Given the description of an element on the screen output the (x, y) to click on. 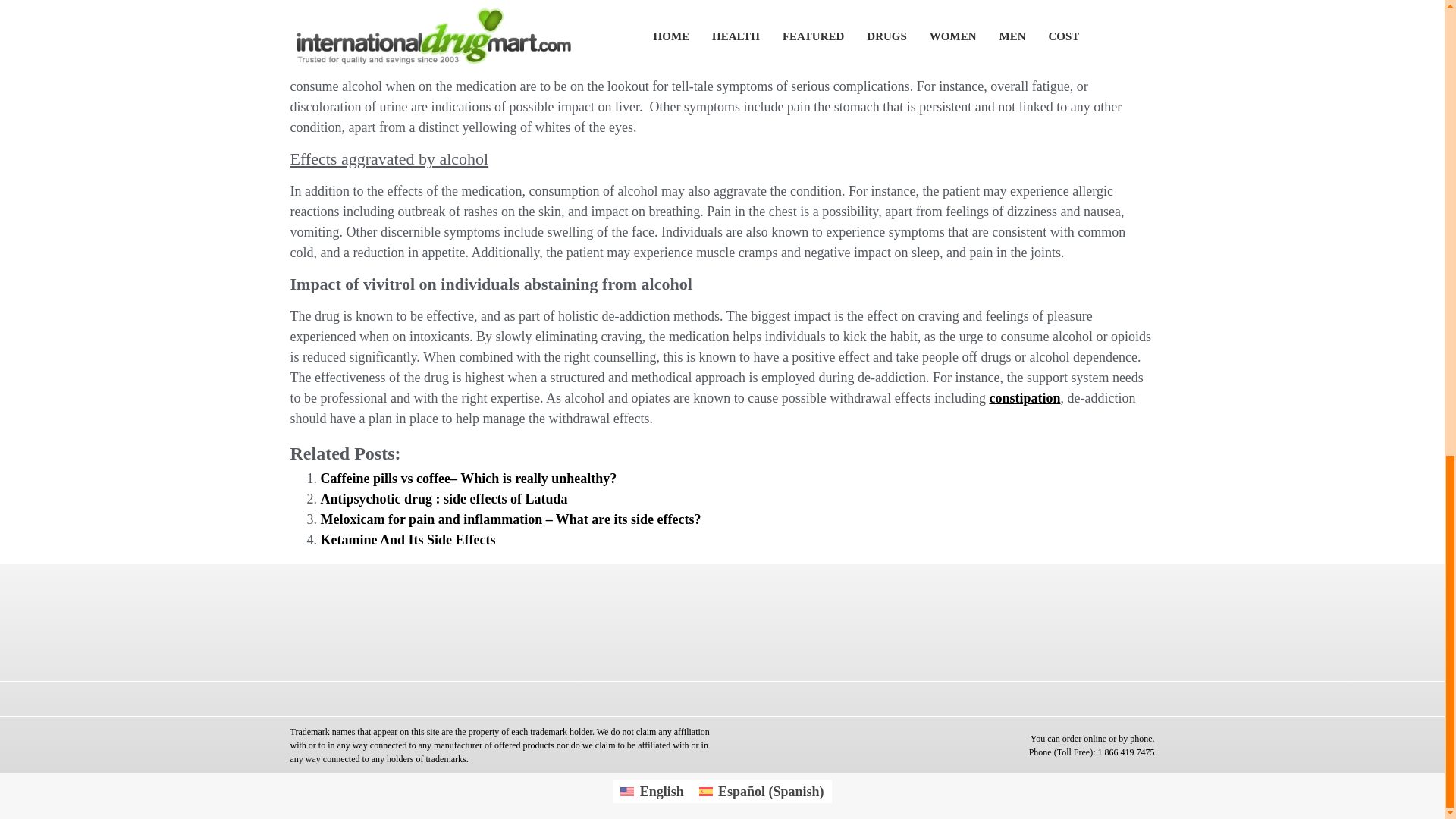
Antipsychotic drug : side effects of Latuda (443, 498)
Antipsychotic drug : side effects of Latuda (443, 498)
constipation (1023, 397)
Ketamine And Its Side Effects (407, 539)
liver (746, 65)
Ketamine And Its Side Effects (407, 539)
